Given the description of an element on the screen output the (x, y) to click on. 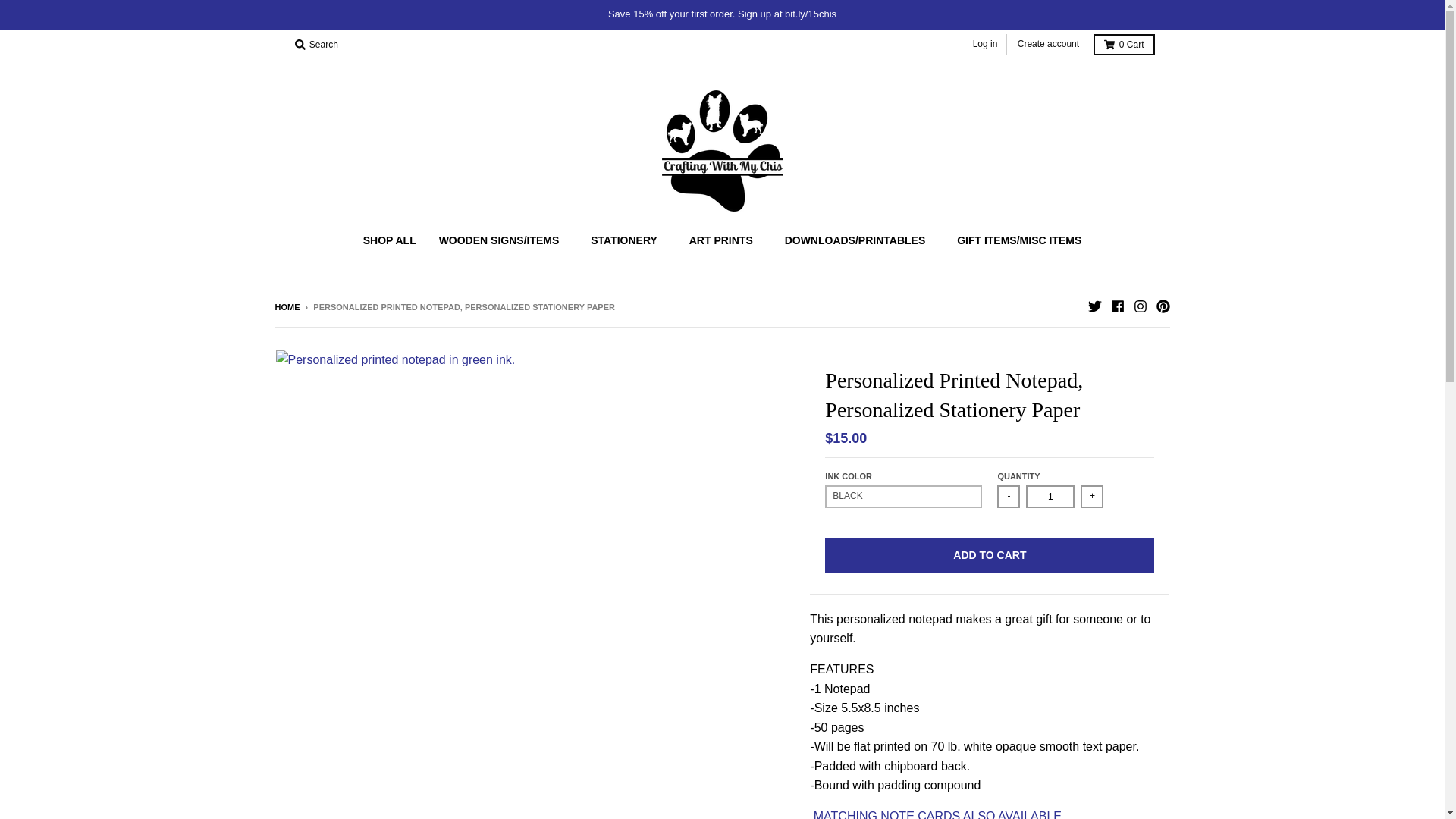
Pinterest - Crafting With My Chis (1162, 305)
Create account (1048, 44)
Search (315, 44)
1 (1050, 496)
Log in (985, 44)
Instagram - Crafting With My Chis (1139, 305)
Twitter - Crafting With My Chis (1093, 305)
Back to the frontpage (287, 307)
STATIONERY (628, 239)
NOTE CARDS (937, 814)
0 Cart (1123, 44)
ART PRINTS (725, 239)
SHOP ALL (389, 239)
Facebook - Crafting With My Chis (1116, 305)
